Given the description of an element on the screen output the (x, y) to click on. 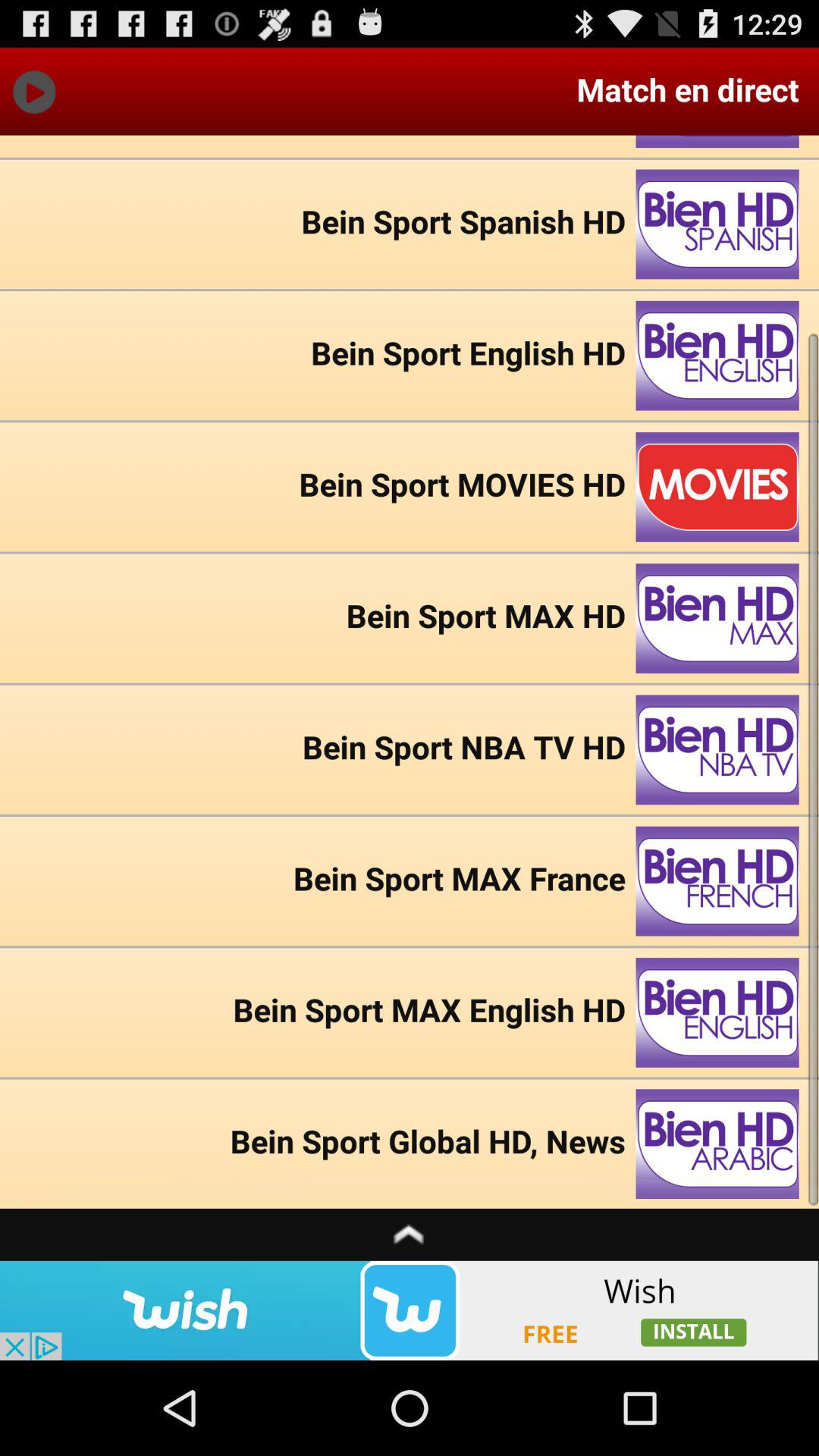
move upwards (409, 1234)
